Given the description of an element on the screen output the (x, y) to click on. 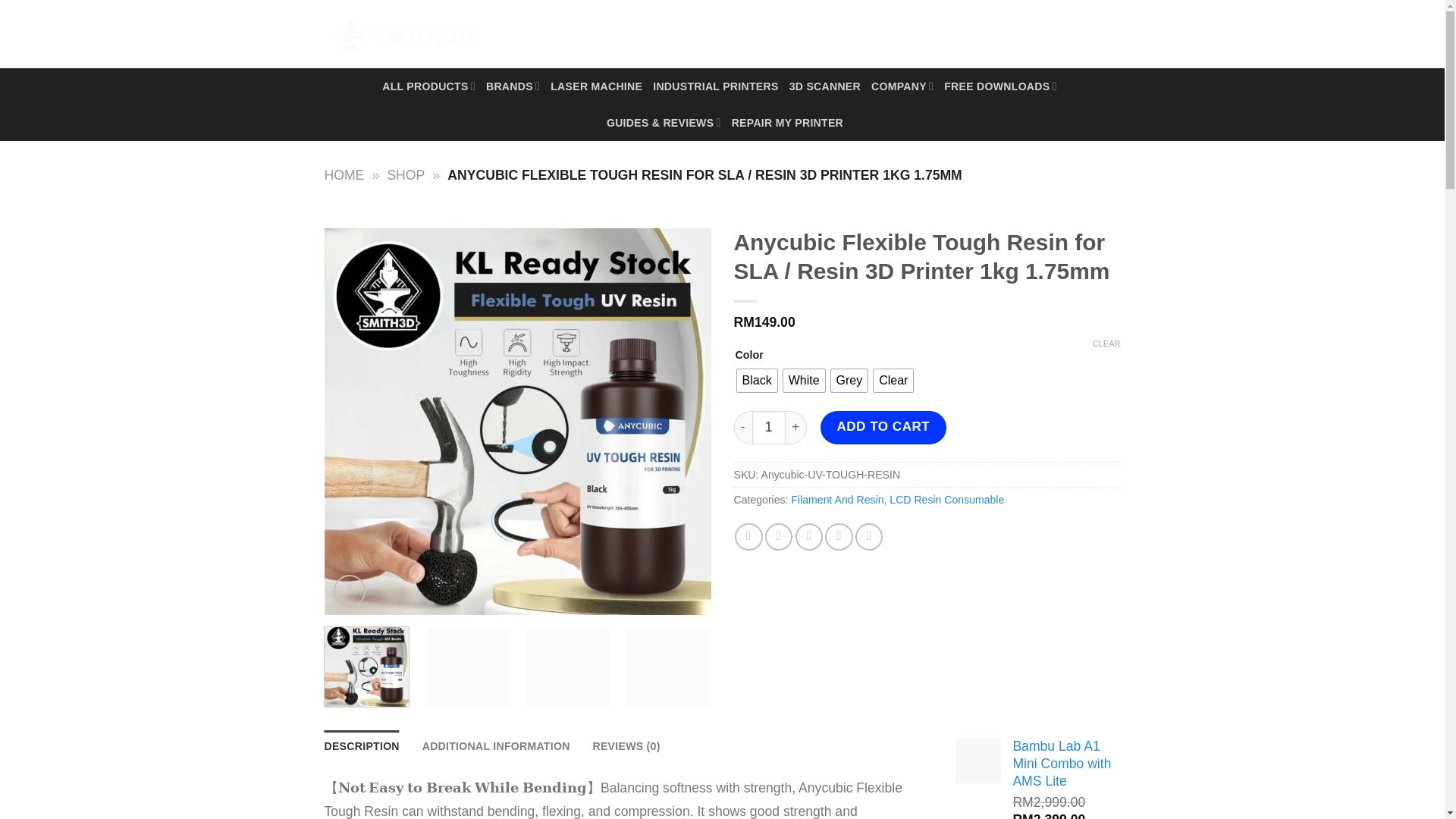
Cart (1053, 33)
1 (769, 427)
Search (914, 34)
Login (970, 33)
LOGIN (970, 33)
3D SCANNER (824, 85)
ALL PRODUCTS (428, 85)
COMPANY (901, 85)
INDUSTRIAL PRINTERS (714, 85)
BRANDS (513, 85)
LASER MACHINE (596, 85)
